Given the description of an element on the screen output the (x, y) to click on. 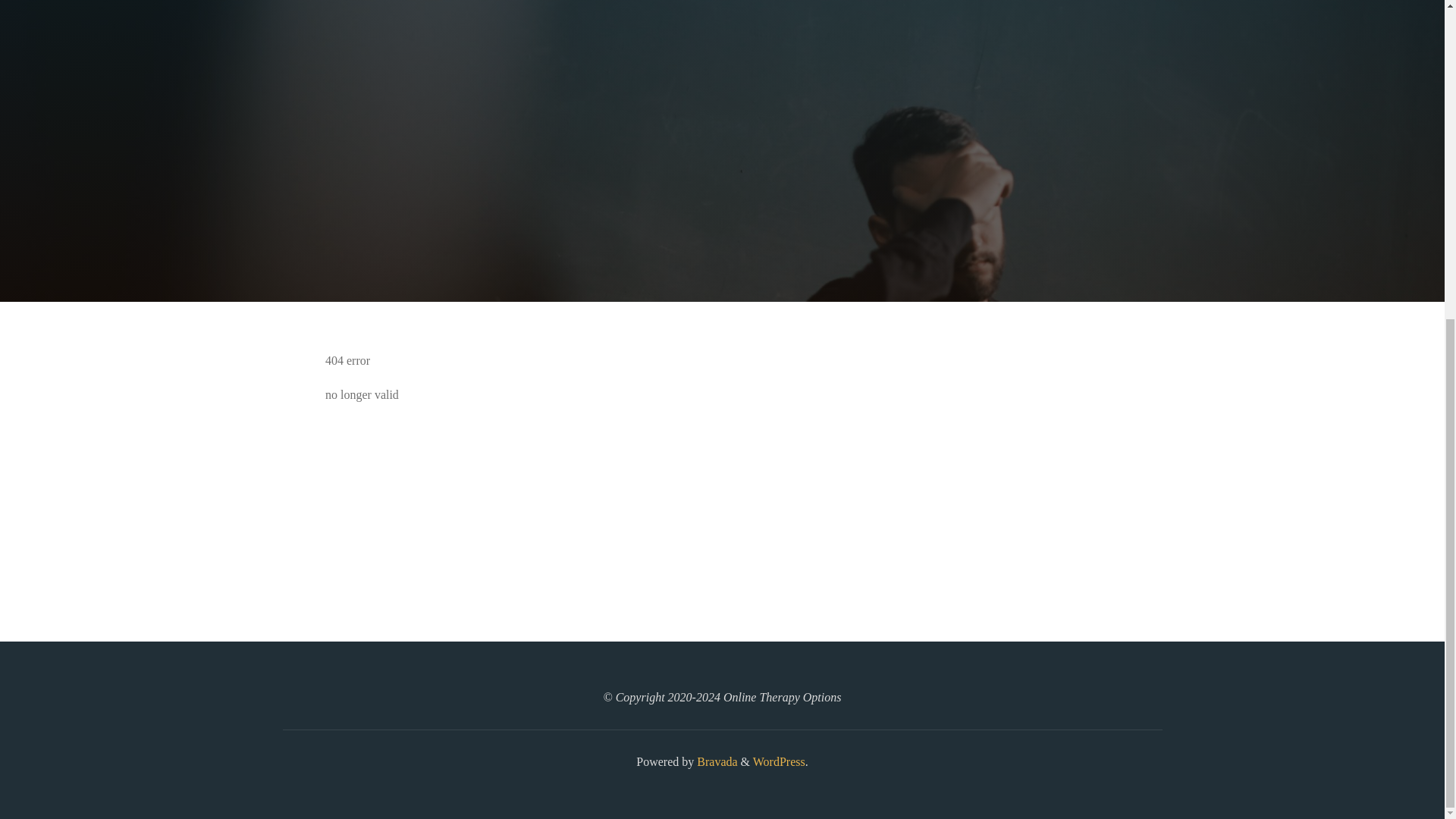
Bravada WordPress Theme by Cryout Creations (715, 761)
WordPress (778, 761)
Semantic Personal Publishing Platform (778, 761)
Bravada (715, 761)
Read more (721, 207)
